Given the description of an element on the screen output the (x, y) to click on. 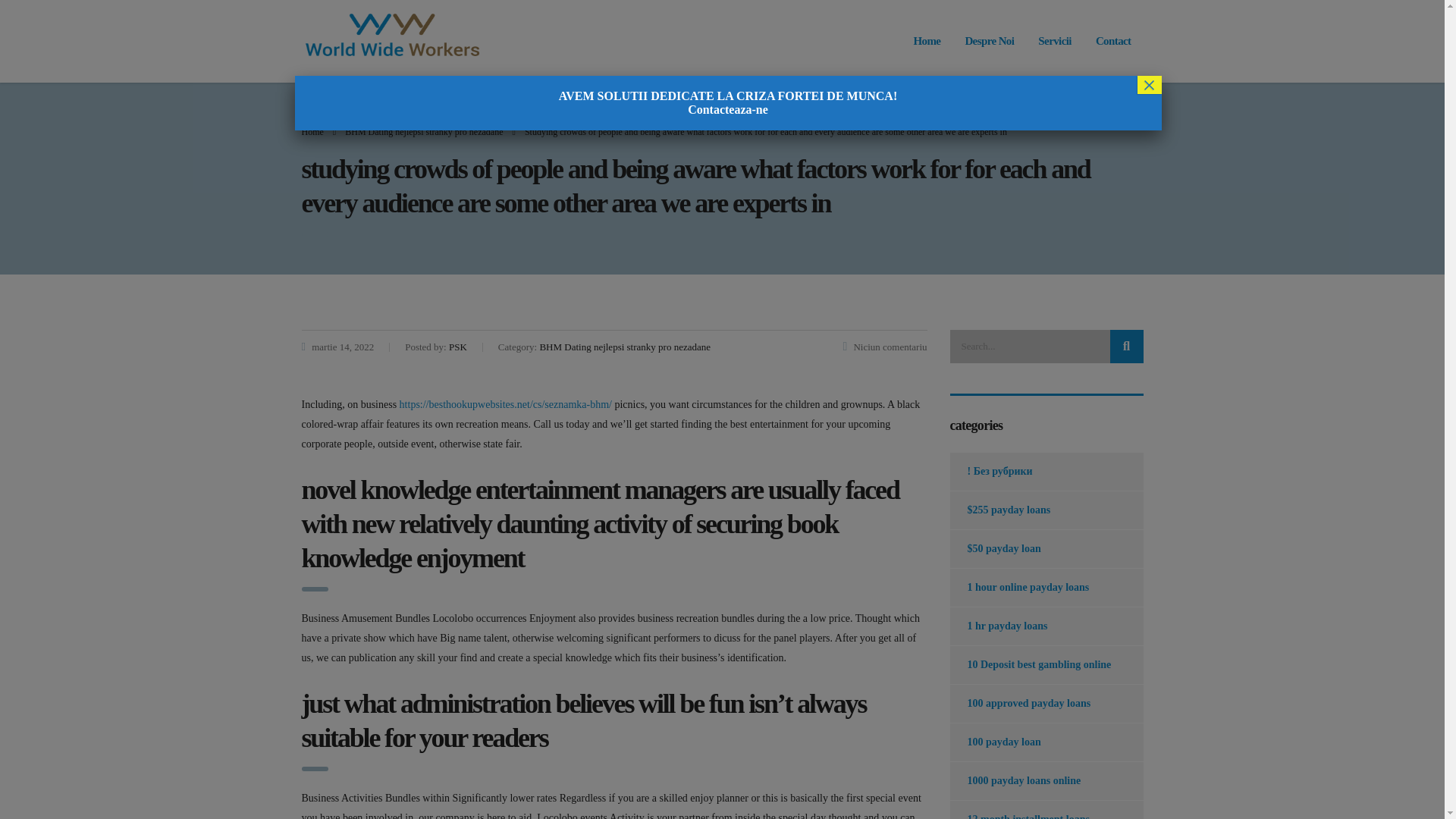
Home (312, 131)
Despre Noi (989, 41)
1 hour online payday loans (1019, 587)
BHM Dating nejlepsi stranky pro nezadane (423, 131)
Go to World Wide Work Company. (312, 131)
1 hr payday loans (997, 626)
100 approved payday loans (1019, 703)
Servicii (1054, 41)
12 month installment loans (1019, 809)
10 Deposit best gambling online (1029, 664)
100 payday loan (995, 742)
1000 payday loans online (1014, 781)
Niciun comentariu (885, 346)
Contact (1112, 41)
